Given the description of an element on the screen output the (x, y) to click on. 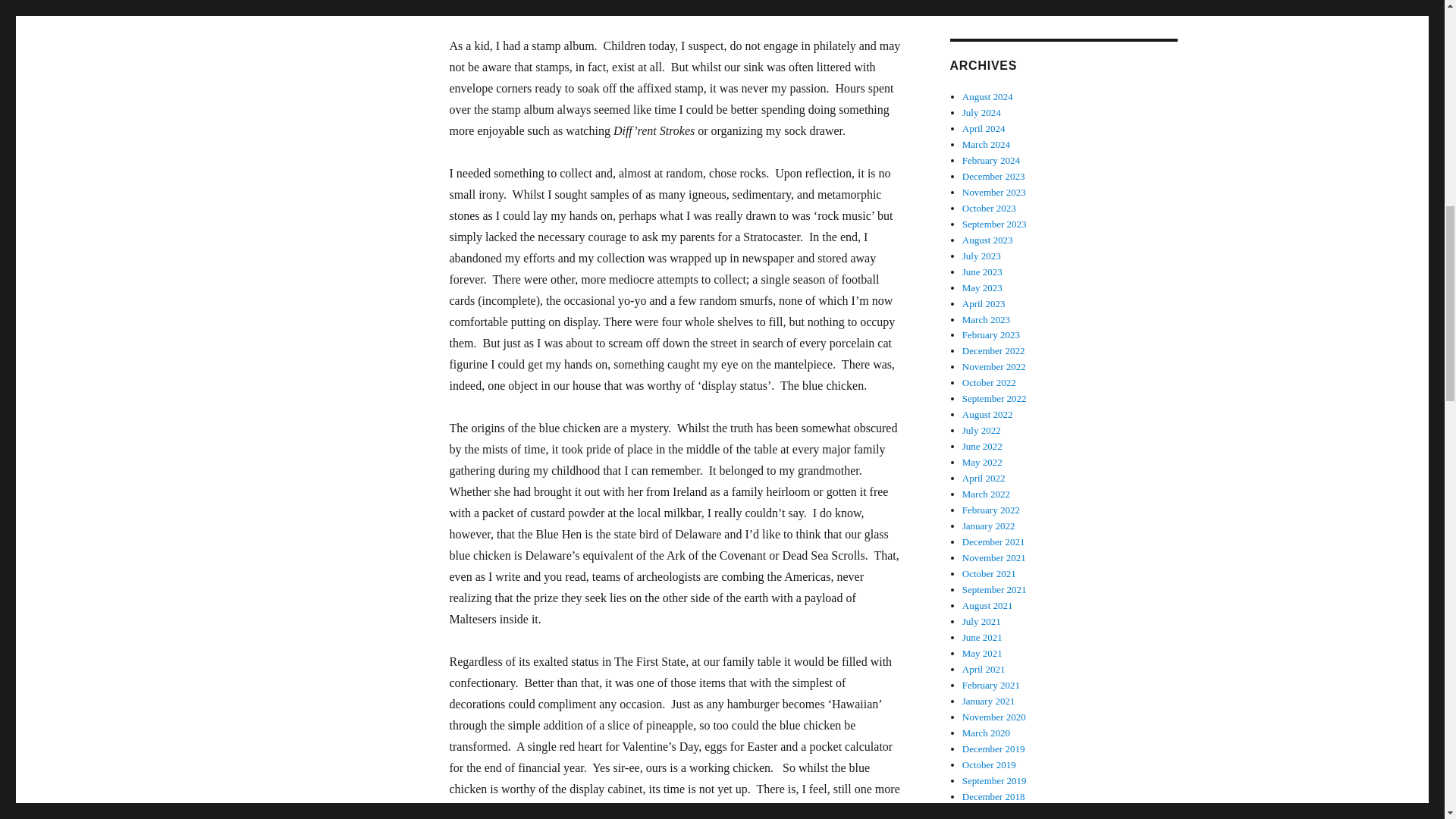
June 2023 (982, 271)
April 2023 (984, 303)
October 2022 (989, 382)
December 2022 (993, 350)
August 2023 (987, 239)
March 2024 (986, 143)
November 2022 (994, 366)
March 2023 (986, 319)
May 2023 (982, 287)
August 2024 (987, 96)
